Given the description of an element on the screen output the (x, y) to click on. 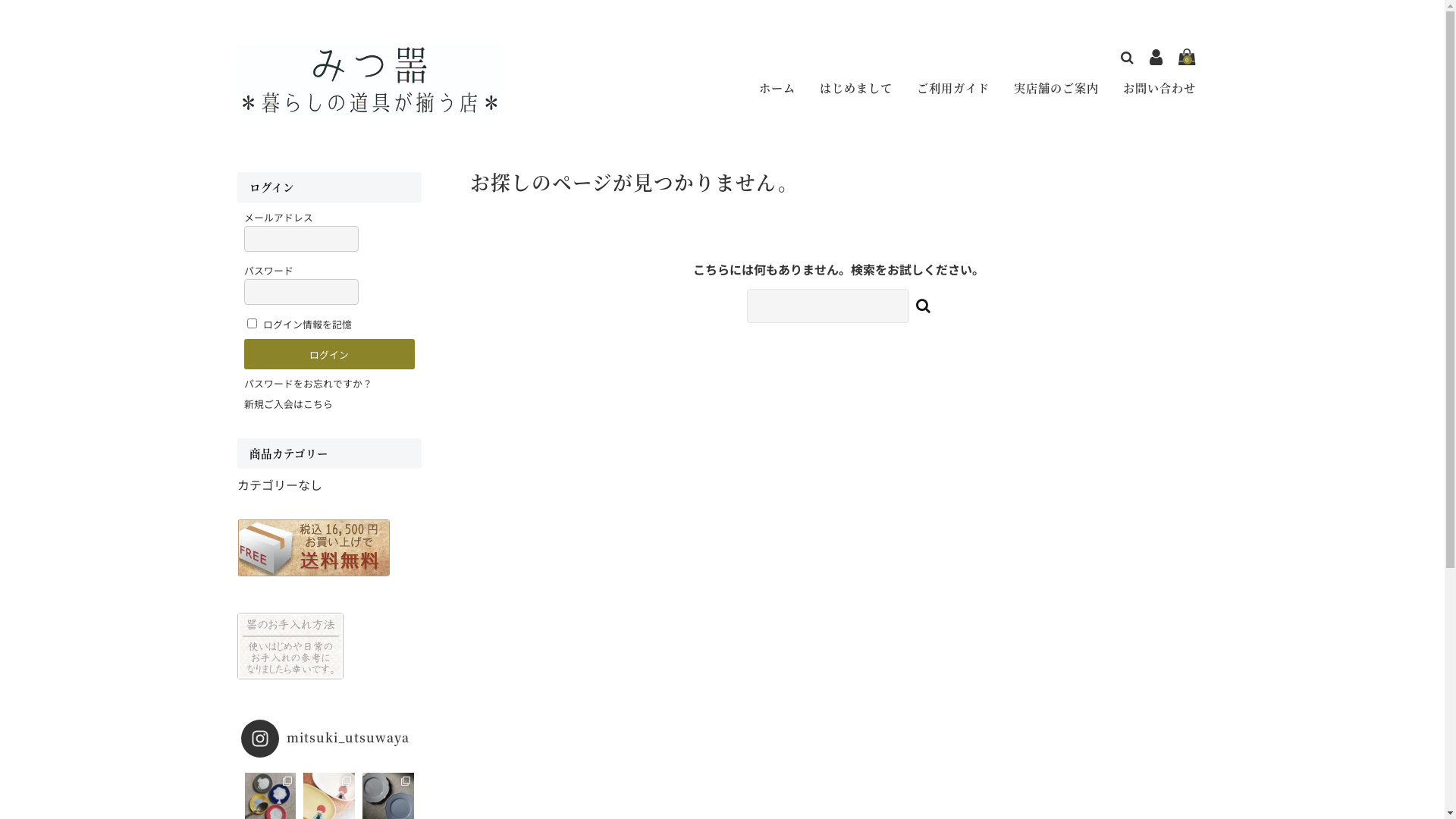
mitsuki_utsuwaya Element type: text (329, 738)
0 Element type: text (1186, 57)
